Given the description of an element on the screen output the (x, y) to click on. 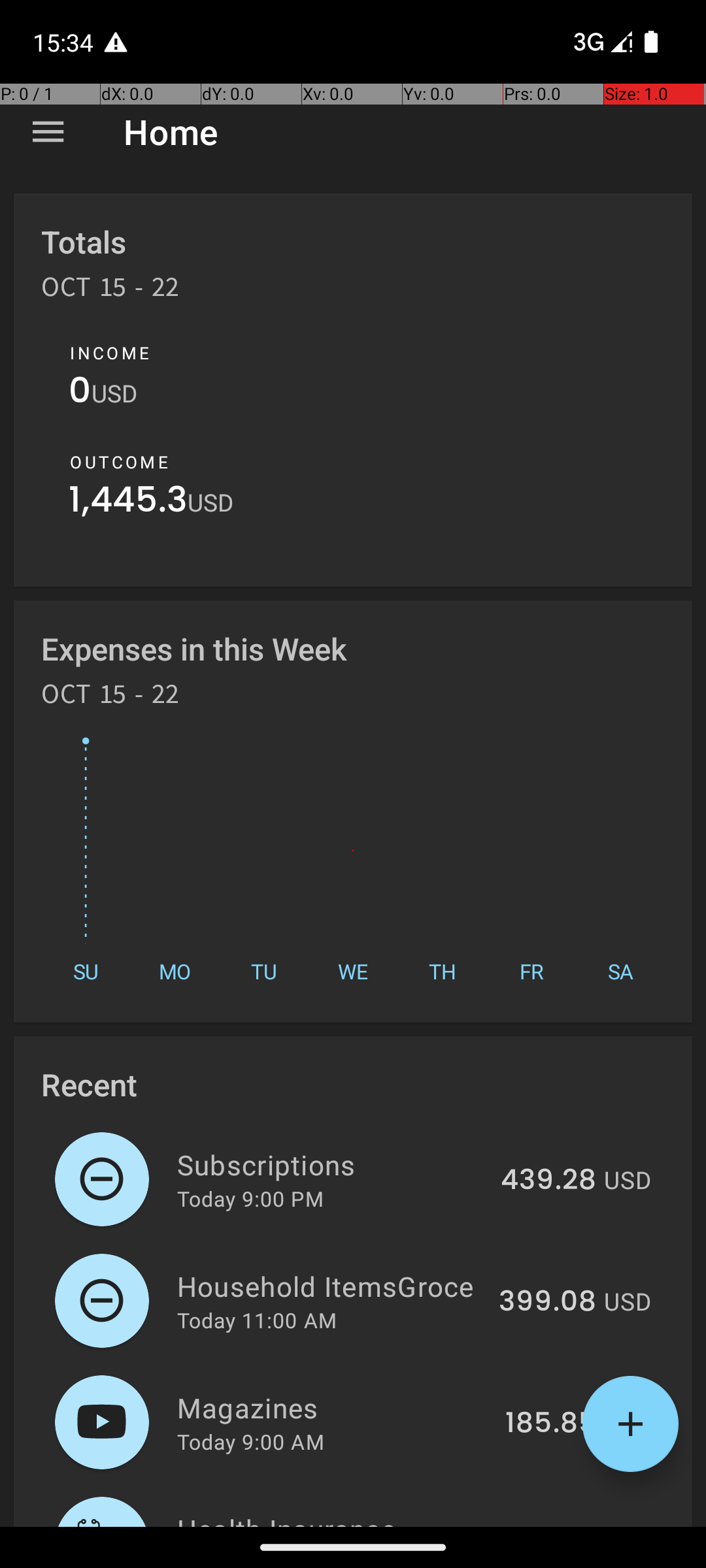
1,445.3 Element type: android.widget.TextView (127, 502)
Subscriptions Element type: android.widget.TextView (331, 1164)
Today 9:00 PM Element type: android.widget.TextView (250, 1198)
439.28 Element type: android.widget.TextView (548, 1180)
Household ItemsGroce Element type: android.widget.TextView (330, 1285)
Today 11:00 AM Element type: android.widget.TextView (256, 1320)
399.08 Element type: android.widget.TextView (547, 1301)
Magazines Element type: android.widget.TextView (333, 1407)
Today 9:00 AM Element type: android.widget.TextView (250, 1441)
185.85 Element type: android.widget.TextView (550, 1423)
Health Insurance Element type: android.widget.TextView (338, 1518)
319.18 Element type: android.widget.TextView (554, 1524)
